Given the description of an element on the screen output the (x, y) to click on. 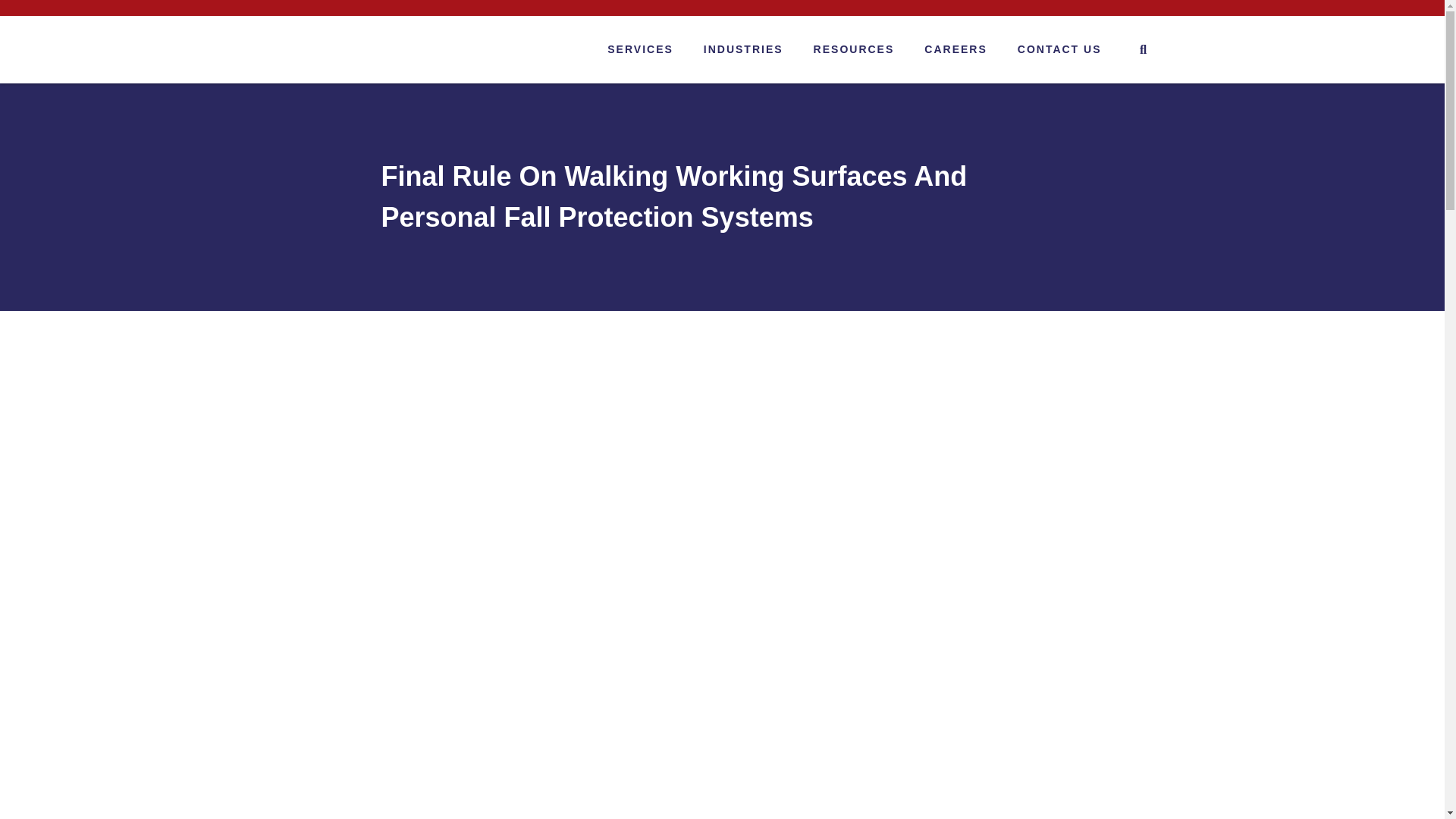
SERVICES (640, 49)
INDUSTRIES (742, 49)
